Given the description of an element on the screen output the (x, y) to click on. 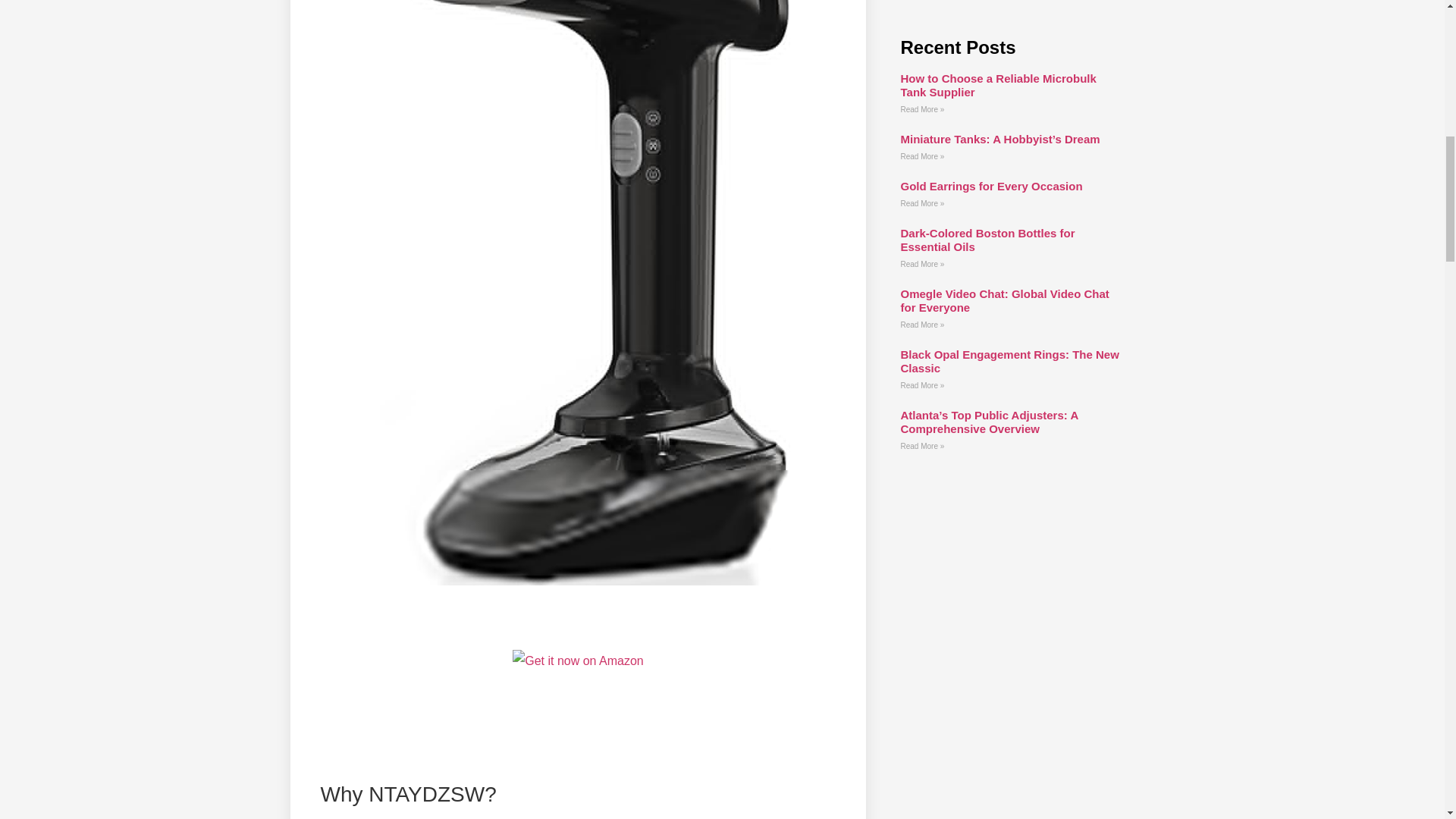
Black Opal Engagement Rings: The New Classic (1008, 361)
Omegle Video Chat: Global Video Chat for Everyone (1003, 300)
Dark-Colored Boston Bottles for Essential Oils (986, 239)
Gold Earrings for Every Occasion (990, 185)
How to Choose a Reliable Microbulk Tank Supplier (997, 85)
